Given the description of an element on the screen output the (x, y) to click on. 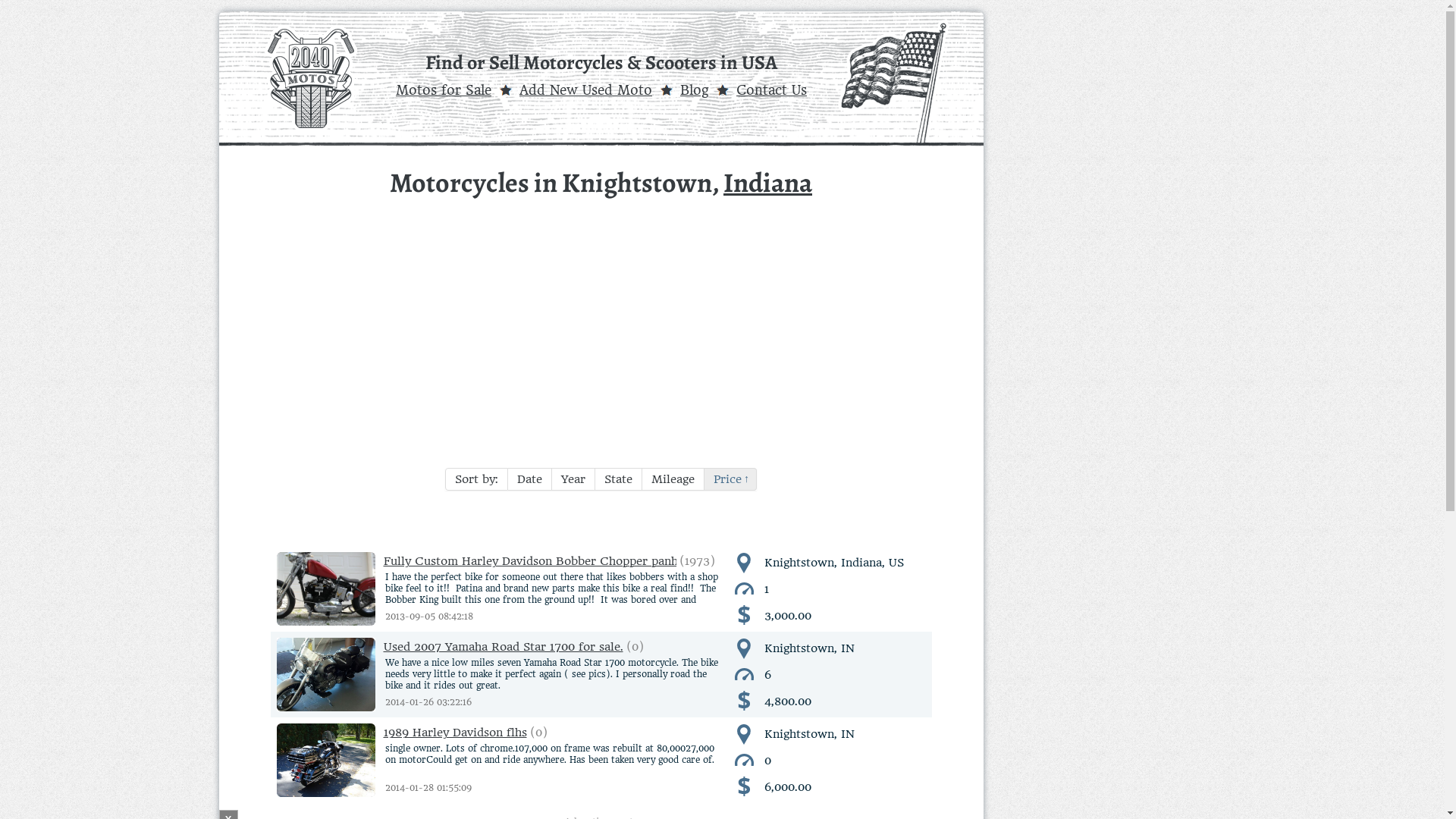
Contact Us Element type: text (771, 89)
Date Element type: text (530, 478)
Price Element type: text (730, 478)
Year Element type: text (573, 478)
Add New Used Moto Element type: text (585, 89)
Indiana Element type: text (767, 181)
Mileage Element type: text (673, 478)
1989 Harley Davidson flhs Element type: text (401, 760)
State Element type: text (618, 478)
Blog Element type: text (694, 89)
Sort by: Element type: text (476, 478)
Used 2007 Yamaha Road Star 1700 for sale. Element type: text (449, 674)
Motos for Sale Element type: text (443, 89)
Advertisement Element type: hover (600, 328)
